Given the description of an element on the screen output the (x, y) to click on. 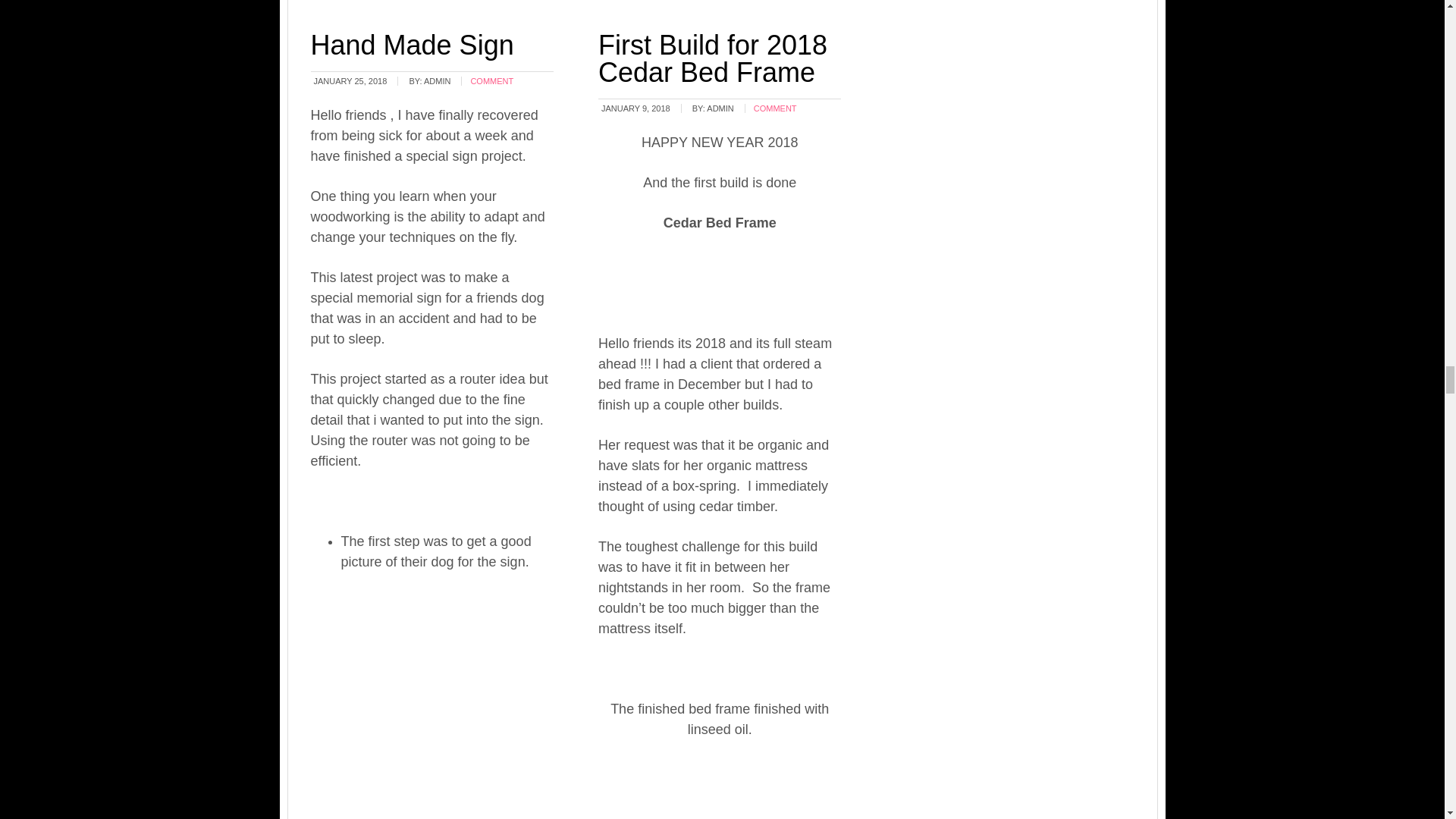
First Build for 2018 Cedar Bed Frame (712, 58)
Hand Made Sign (412, 44)
COMMENT (491, 80)
COMMENT (775, 108)
